Given the description of an element on the screen output the (x, y) to click on. 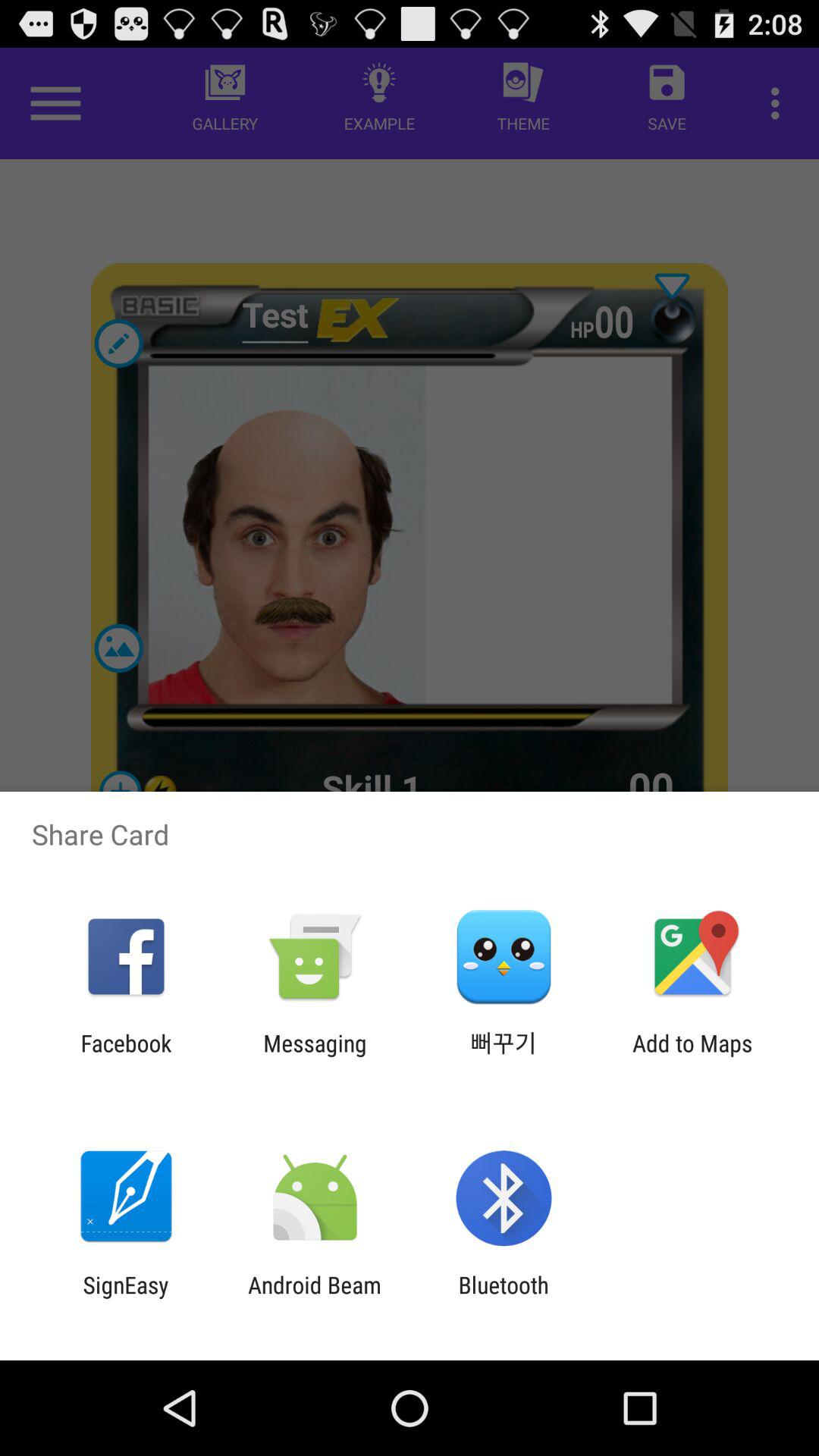
launch the icon next to signeasy (314, 1298)
